Given the description of an element on the screen output the (x, y) to click on. 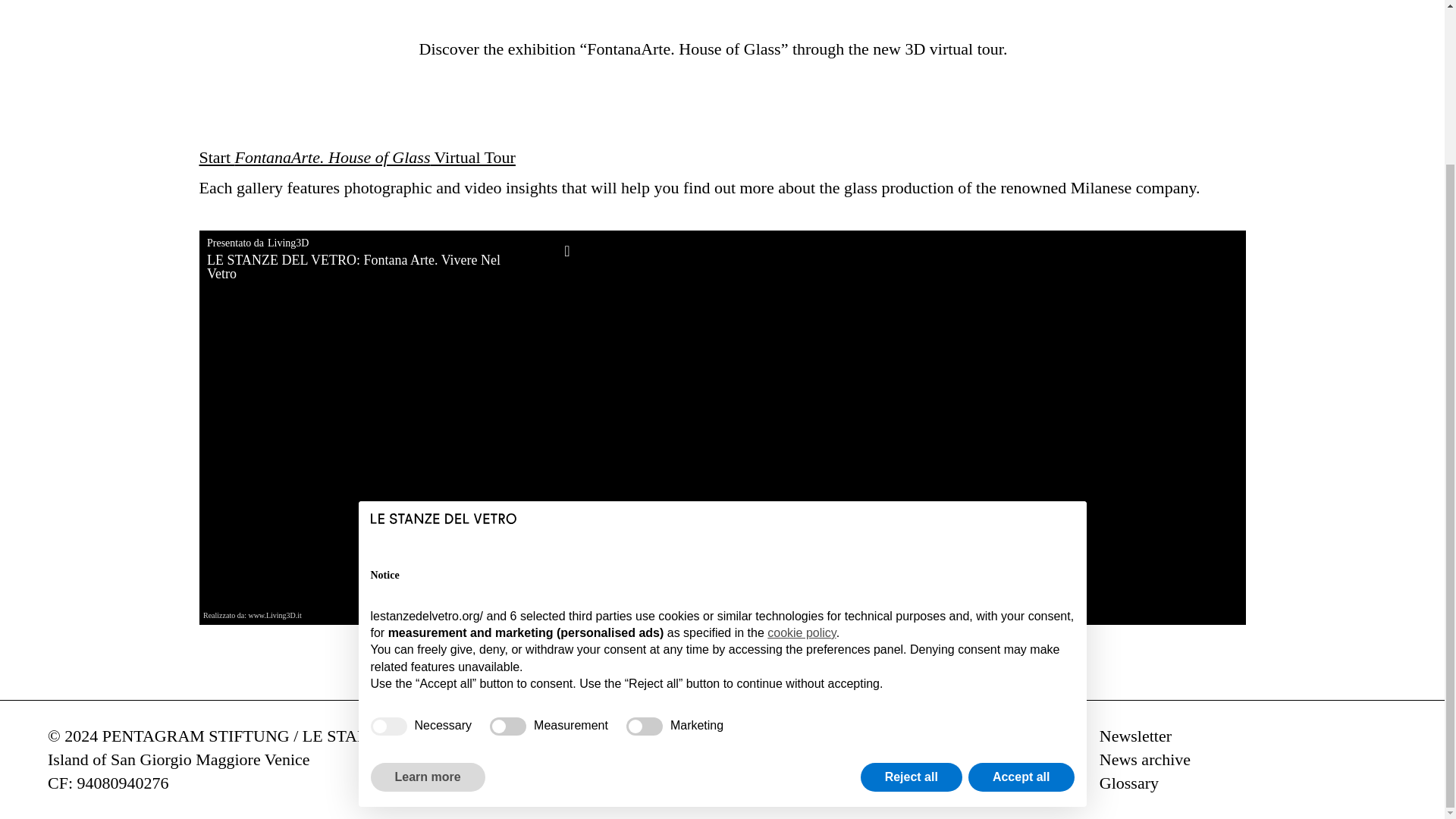
Privacy Policy (927, 736)
false (644, 531)
false (507, 531)
Start FontanaArte. House of Glass Virtual Tour (356, 157)
true (387, 531)
Page 1 (179, 771)
